Given the description of an element on the screen output the (x, y) to click on. 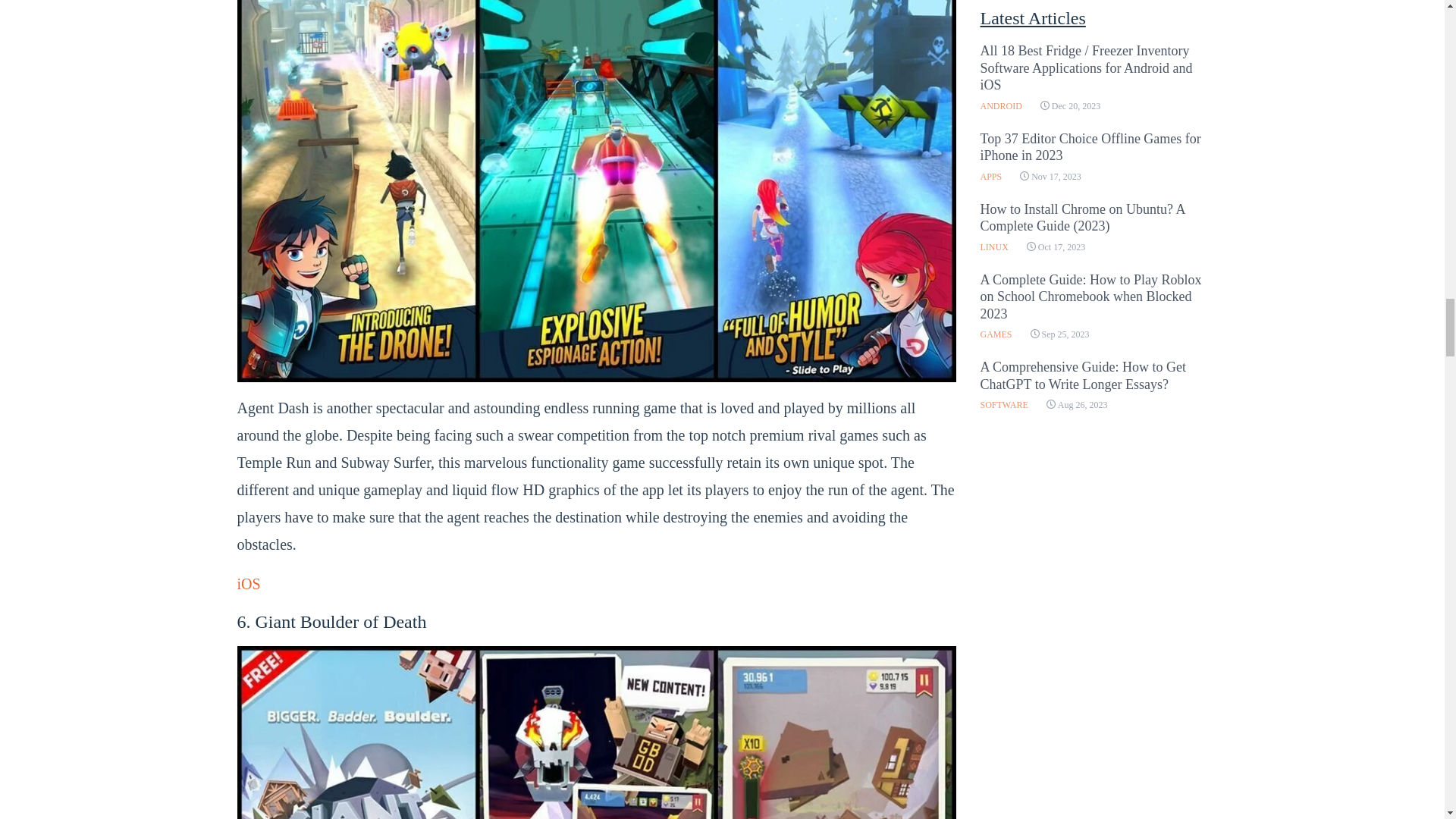
iOS (247, 583)
